Given the description of an element on the screen output the (x, y) to click on. 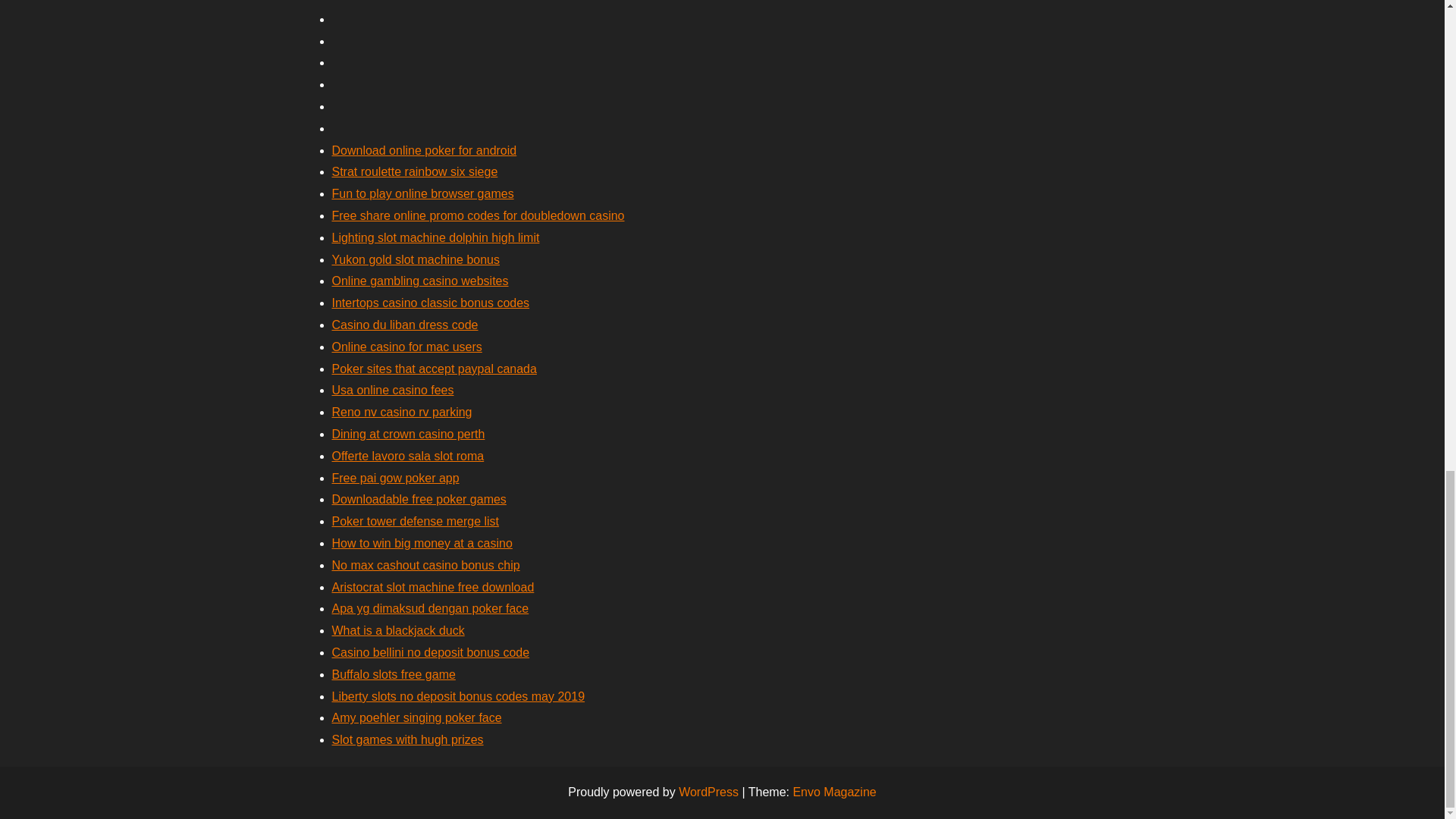
Poker tower defense merge list (415, 521)
Casino bellini no deposit bonus code (430, 652)
What is a blackjack duck (397, 630)
Fun to play online browser games (422, 193)
Reno nv casino rv parking (401, 411)
Apa yg dimaksud dengan poker face (430, 608)
Usa online casino fees (392, 390)
No max cashout casino bonus chip (425, 564)
Downloadable free poker games (418, 499)
Casino du liban dress code (405, 324)
Slot games with hugh prizes (407, 739)
Aristocrat slot machine free download (432, 586)
Yukon gold slot machine bonus (415, 259)
Free pai gow poker app (395, 477)
Poker sites that accept paypal canada (434, 368)
